Given the description of an element on the screen output the (x, y) to click on. 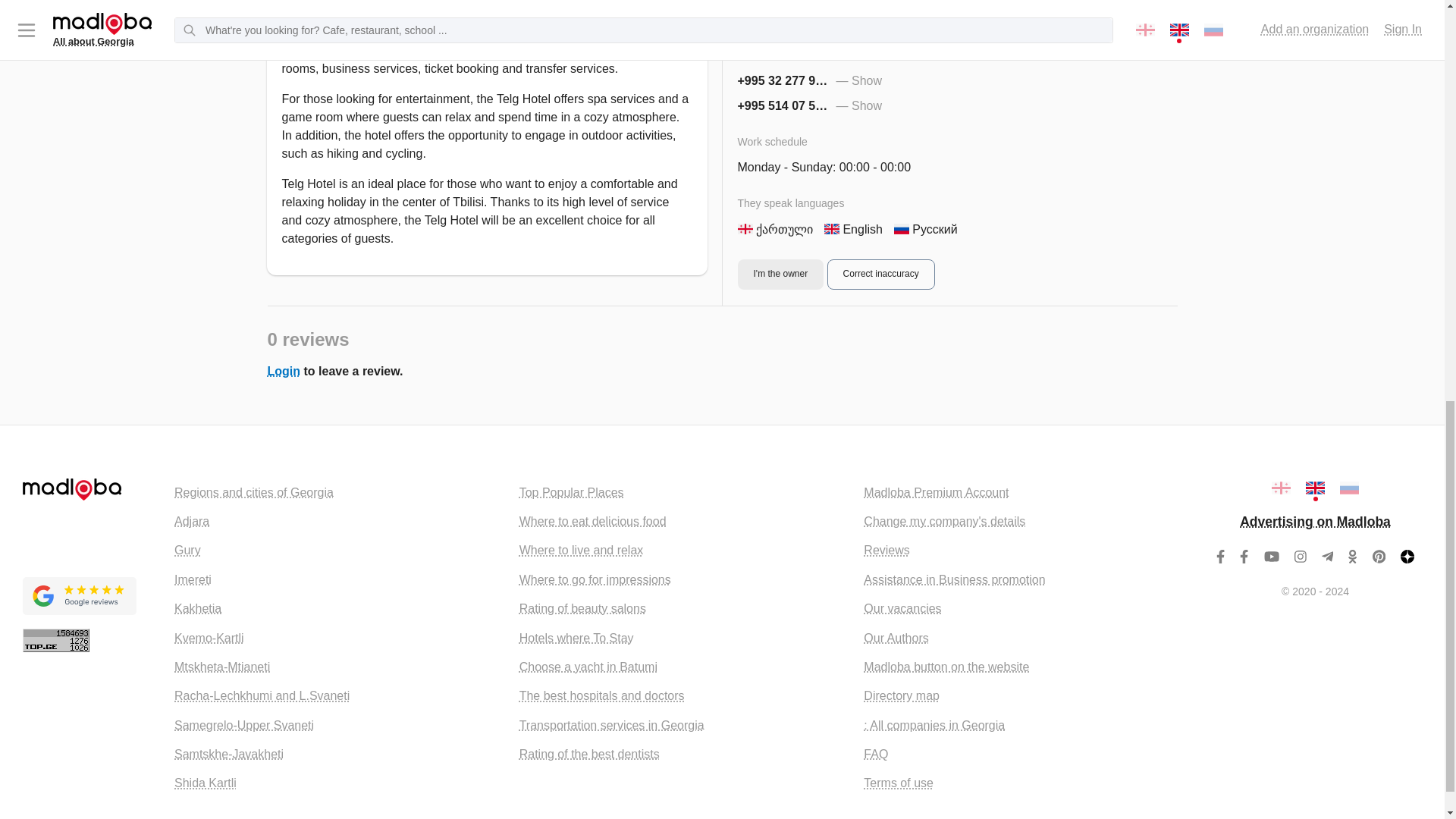
Gury (187, 549)
Regions and cities of Georgia (253, 492)
Adjara (191, 521)
Kakhetia (197, 608)
I'm the owner (780, 45)
Login (282, 370)
Correct inaccuracy (880, 45)
Imereti (192, 579)
TOP.GE (55, 639)
